Given the description of an element on the screen output the (x, y) to click on. 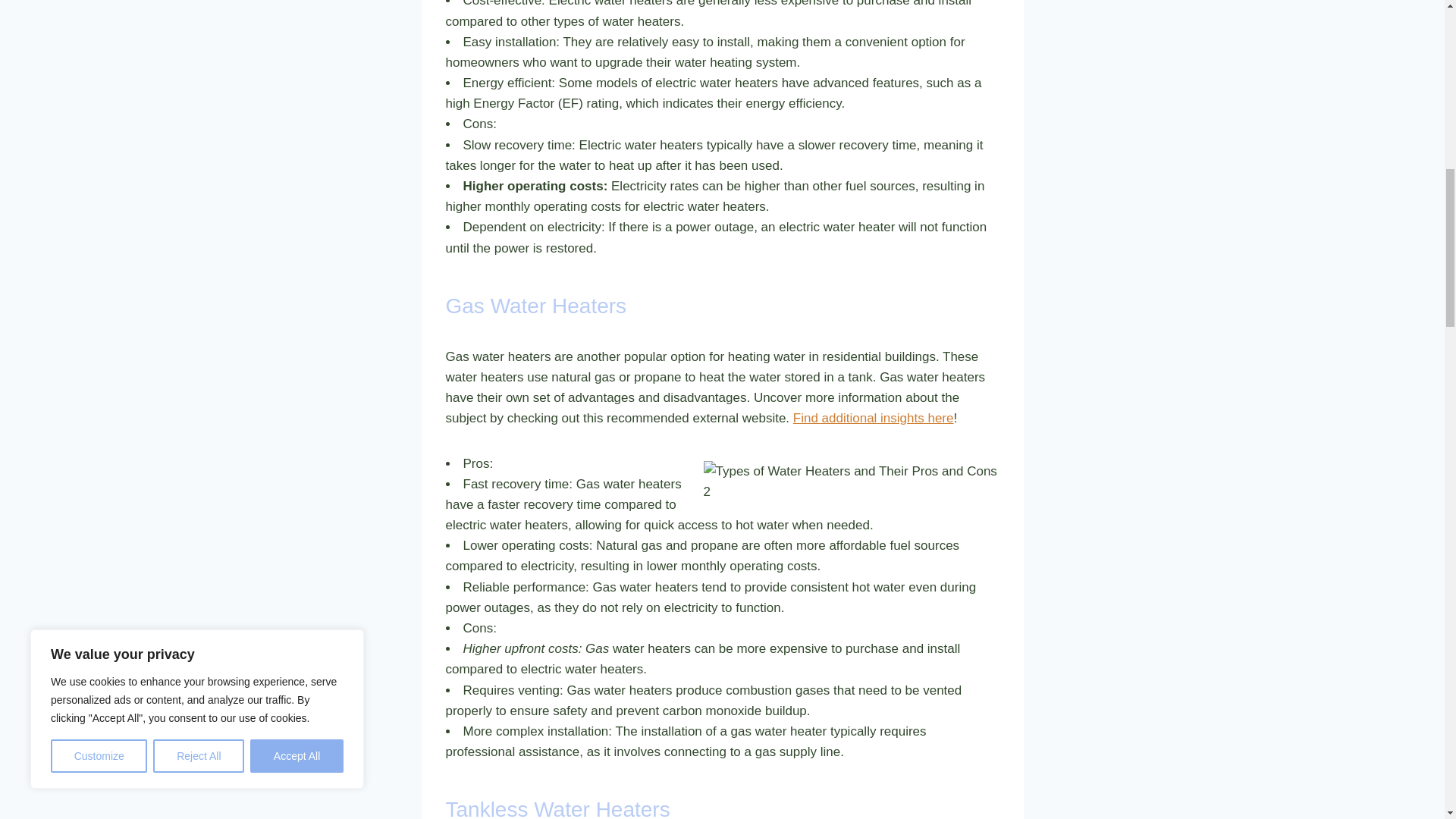
Find additional insights here (873, 418)
